Given the description of an element on the screen output the (x, y) to click on. 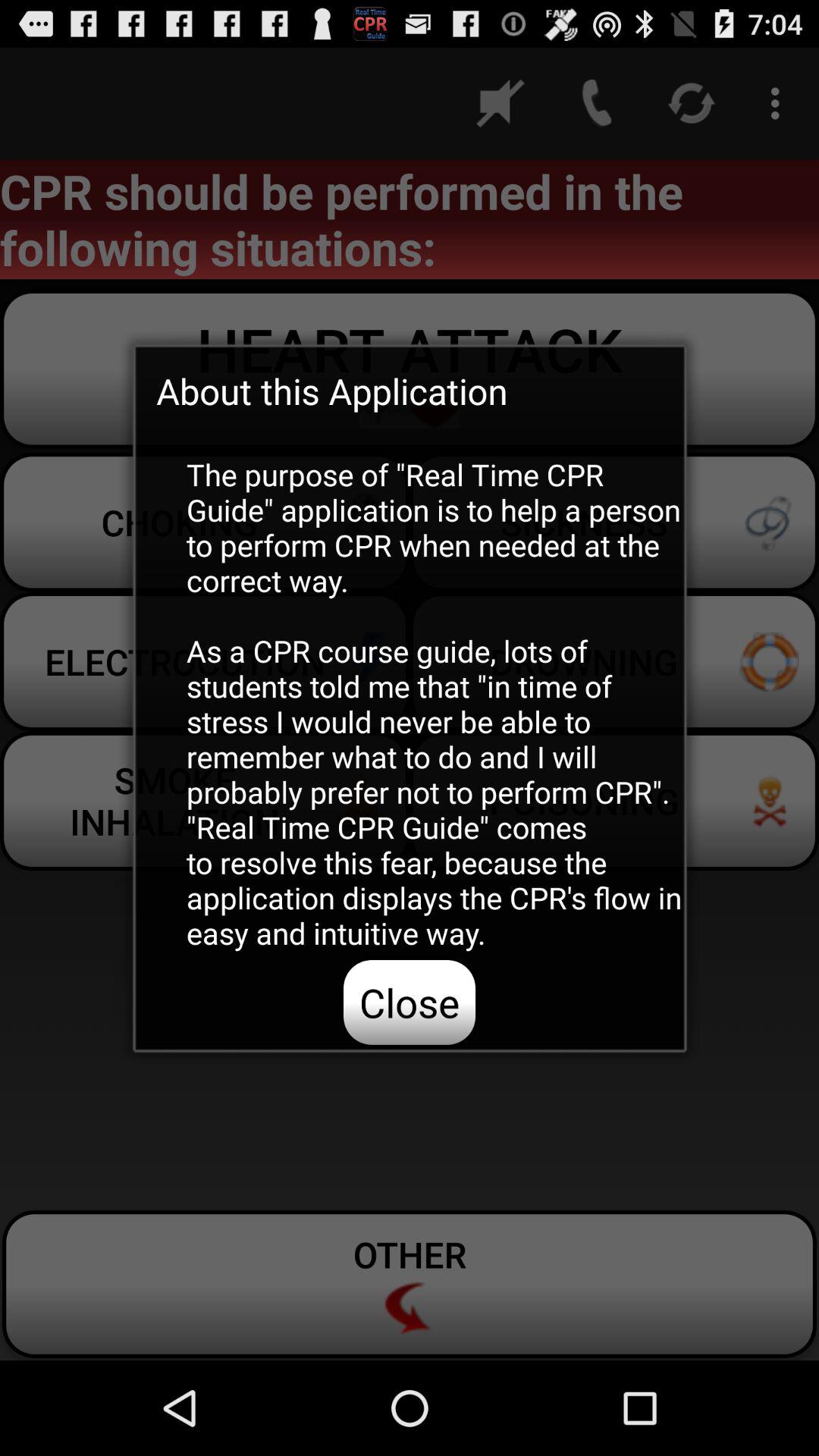
tap the app below the purpose of icon (409, 1002)
